Given the description of an element on the screen output the (x, y) to click on. 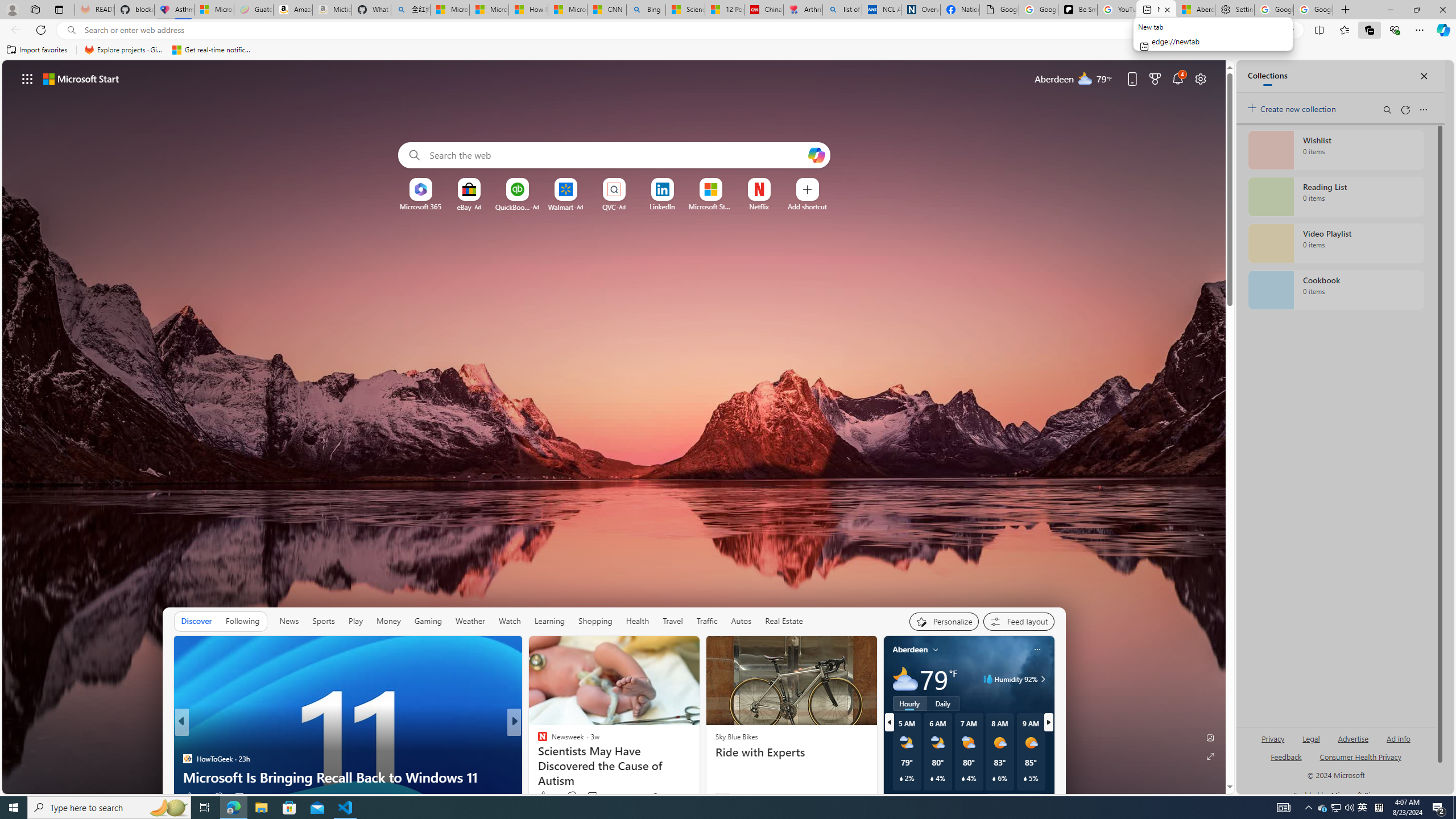
LinkedIn (662, 206)
Autos (740, 621)
12 Like (192, 796)
View comments 11 Comment (589, 797)
XDA Developers (537, 740)
previous (888, 722)
